Given the description of an element on the screen output the (x, y) to click on. 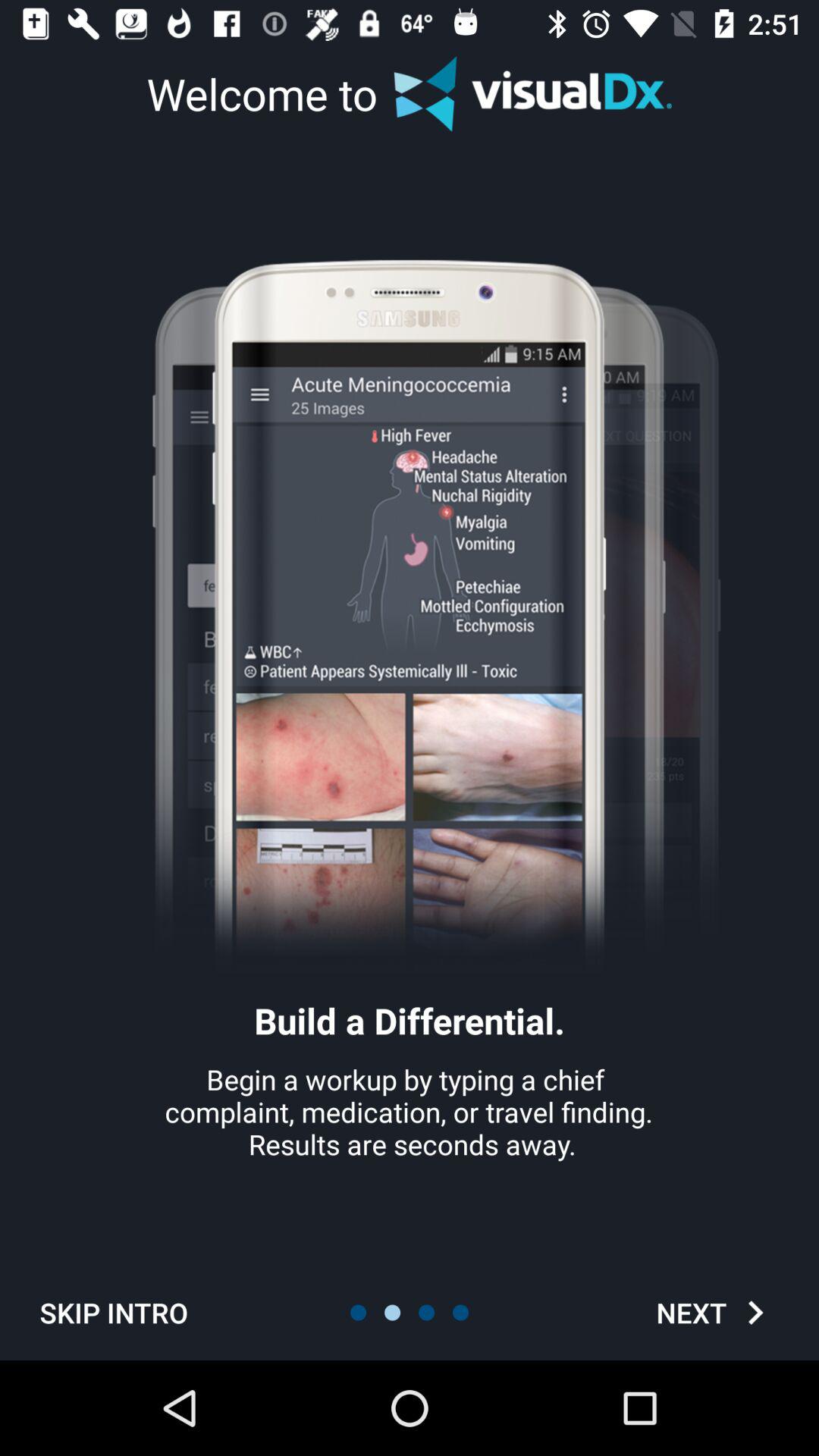
turn on the icon at the bottom left corner (113, 1312)
